Given the description of an element on the screen output the (x, y) to click on. 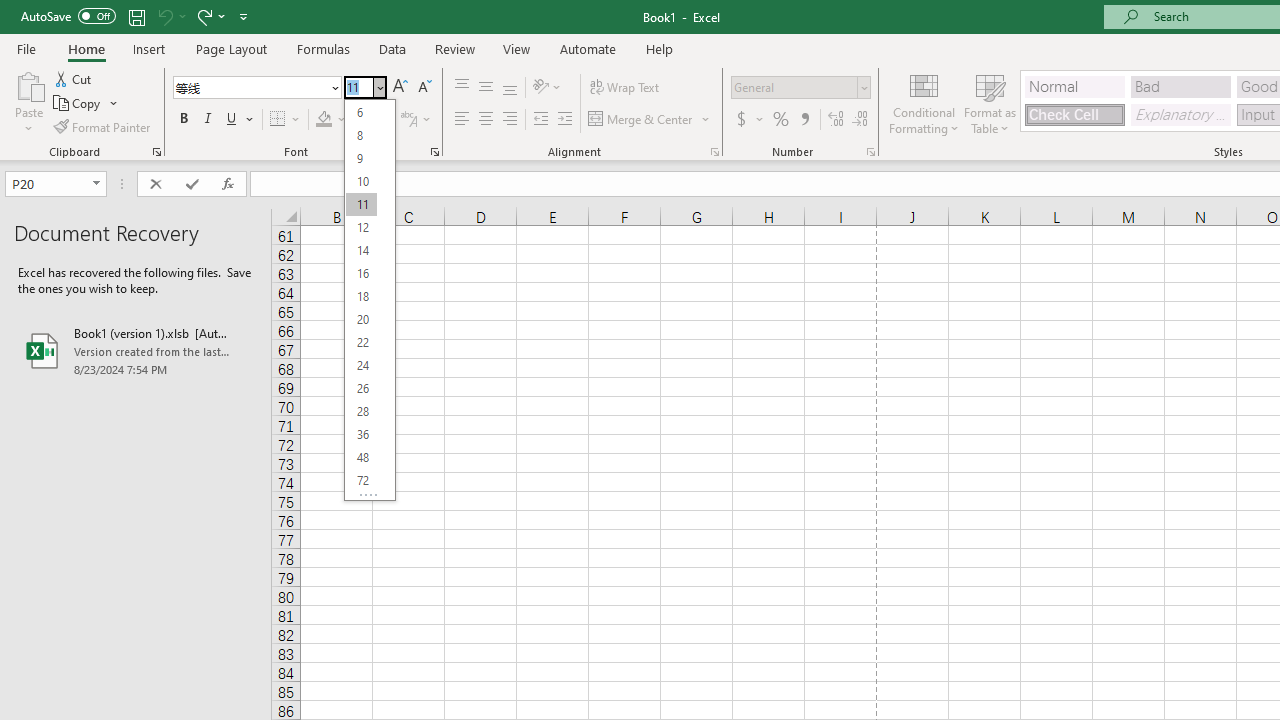
Decrease Decimal (859, 119)
Data (392, 48)
Underline (239, 119)
Accounting Number Format (741, 119)
Explanatory Text (1180, 114)
Center (485, 119)
Formulas (323, 48)
Font Size (358, 87)
Underline (232, 119)
View (517, 48)
11 (361, 204)
Top Align (461, 87)
Wrap Text (624, 87)
Bold (183, 119)
Customize Quick Access Toolbar (244, 15)
